Given the description of an element on the screen output the (x, y) to click on. 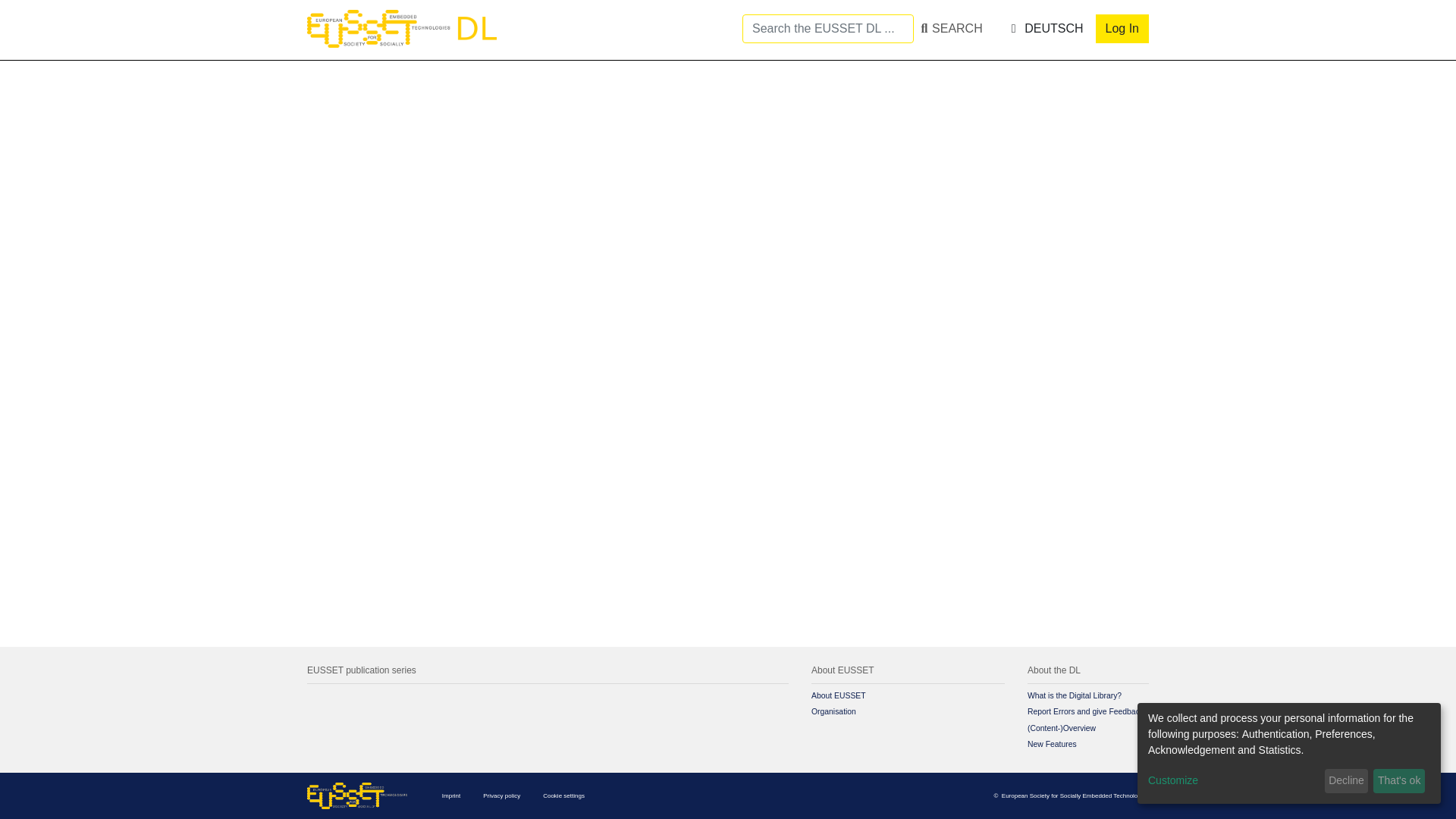
European Society for Socially Embedded Technologies (1074, 794)
New Features (1052, 744)
Customize (1233, 780)
Language (1044, 28)
Report Errors and give Feedback (1084, 711)
Cookie settings (564, 794)
DEUTSCH (1044, 28)
That's ok (1399, 781)
Imprint (451, 794)
Privacy policy (501, 794)
Organisation (833, 711)
About EUSSET (838, 695)
Search (862, 28)
Decline (1346, 781)
What is the Digital Library? (1074, 695)
